Given the description of an element on the screen output the (x, y) to click on. 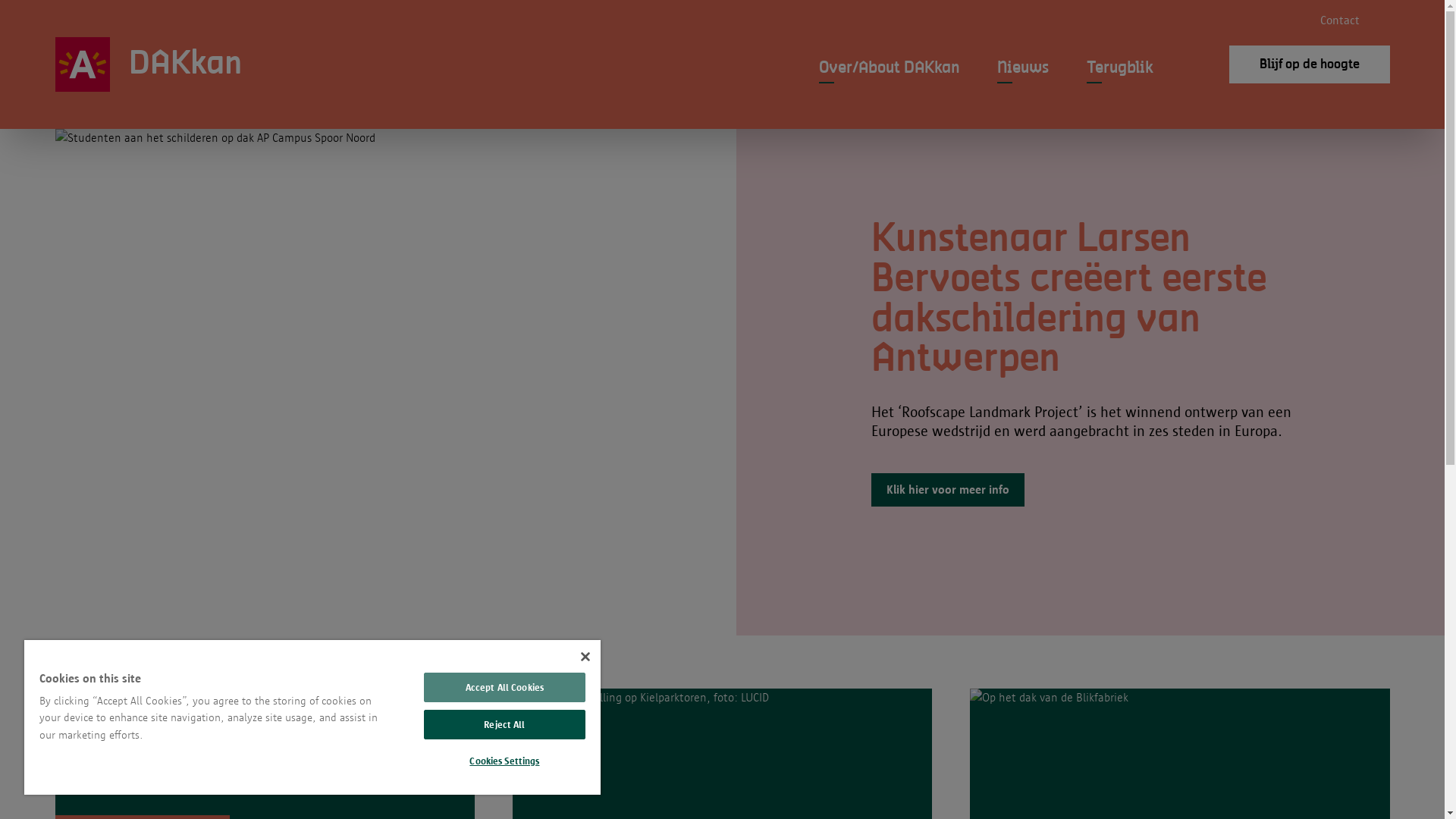
Contact Element type: text (1338, 20)
DAKkan Element type: text (147, 64)
Cookies Settings Element type: text (504, 760)
Over/About DAKkan Element type: text (889, 71)
(c) Mathias Onzia Element type: hover (443, 342)
Accept All Cookies Element type: text (504, 687)
Nieuws Element type: text (1022, 71)
Overslaan en naar de inhoud gaan Element type: text (721, 1)
Reject All Element type: text (504, 724)
Terugblik Element type: text (1118, 71)
Blijf op de hoogte Element type: text (1308, 64)
